Given the description of an element on the screen output the (x, y) to click on. 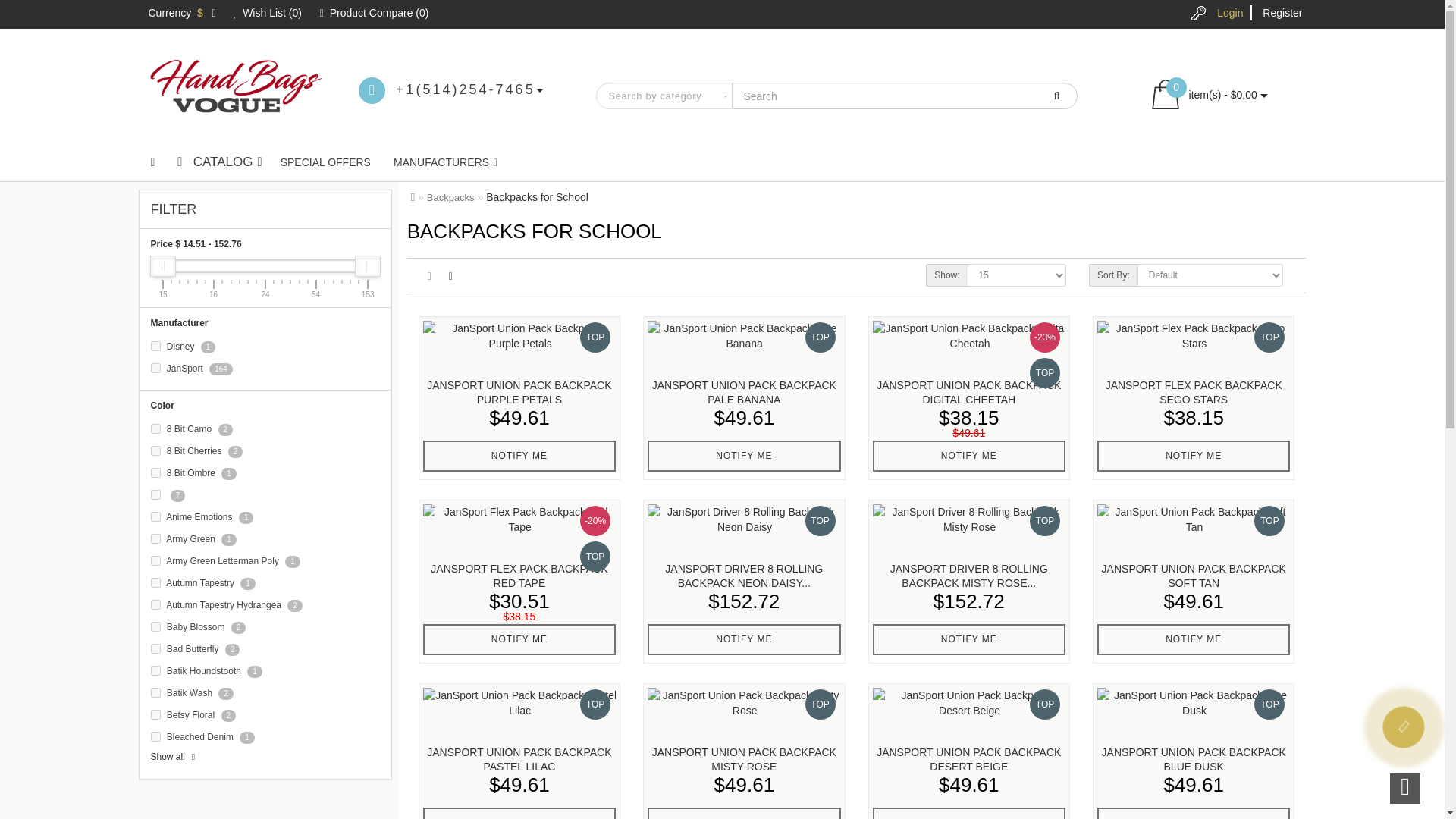
10012:2491758948 (154, 429)
10012:3848278485 (154, 450)
10012:2601819255 (154, 737)
10012:1420644687 (154, 494)
10012:3020681134 (154, 583)
10012:2301590139 (154, 648)
m:22 (154, 368)
10012:3198434722 (154, 714)
10012:4105927608 (154, 626)
10012:3384440520 (154, 538)
Login (1230, 12)
Register (1281, 12)
10012:1581061167 (154, 604)
   CATALOG (216, 161)
10012:2558180209 (154, 692)
